Given the description of an element on the screen output the (x, y) to click on. 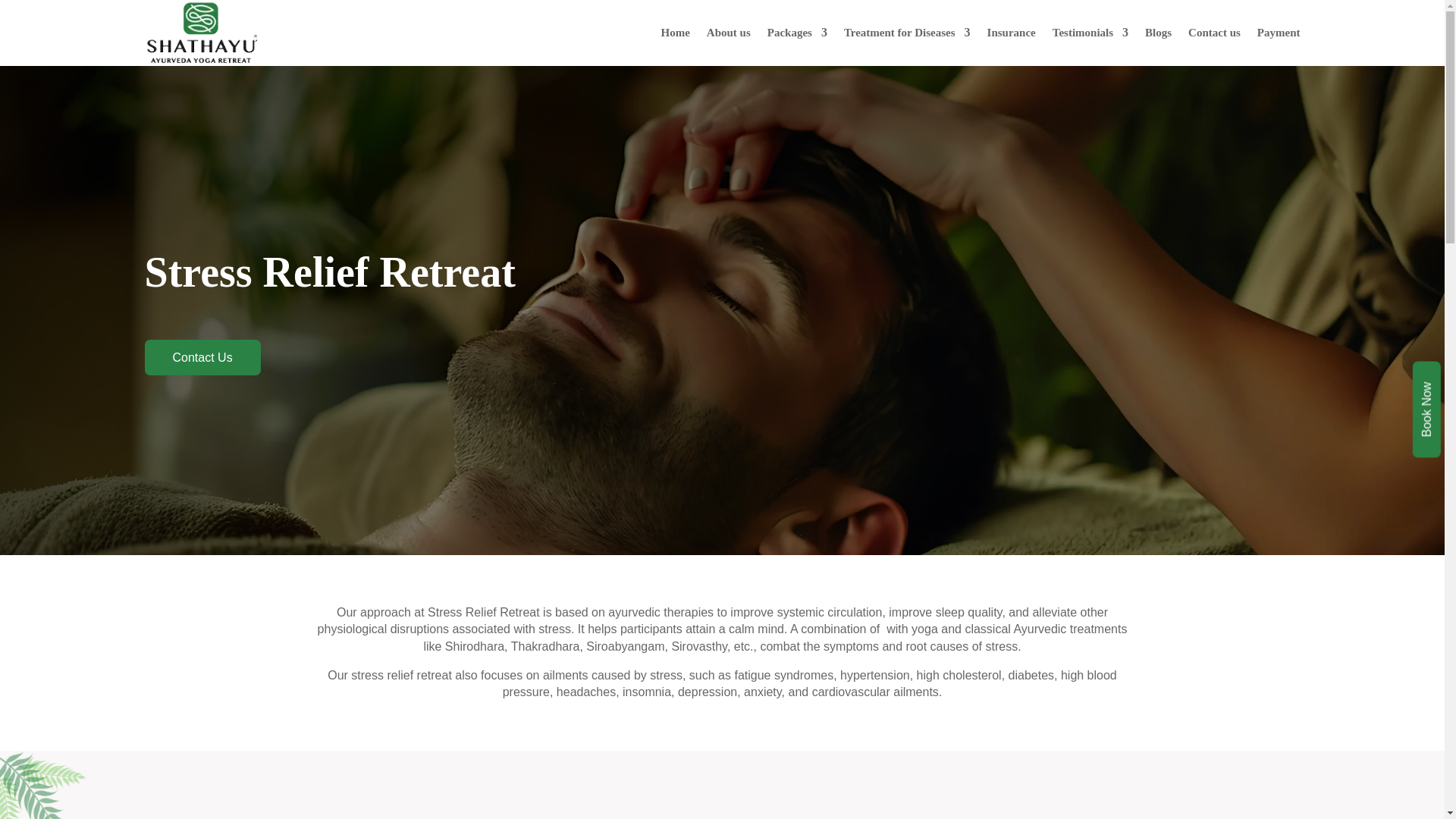
Treatment for Diseases (907, 33)
Packages (797, 33)
Testimonials (1090, 33)
